Given the description of an element on the screen output the (x, y) to click on. 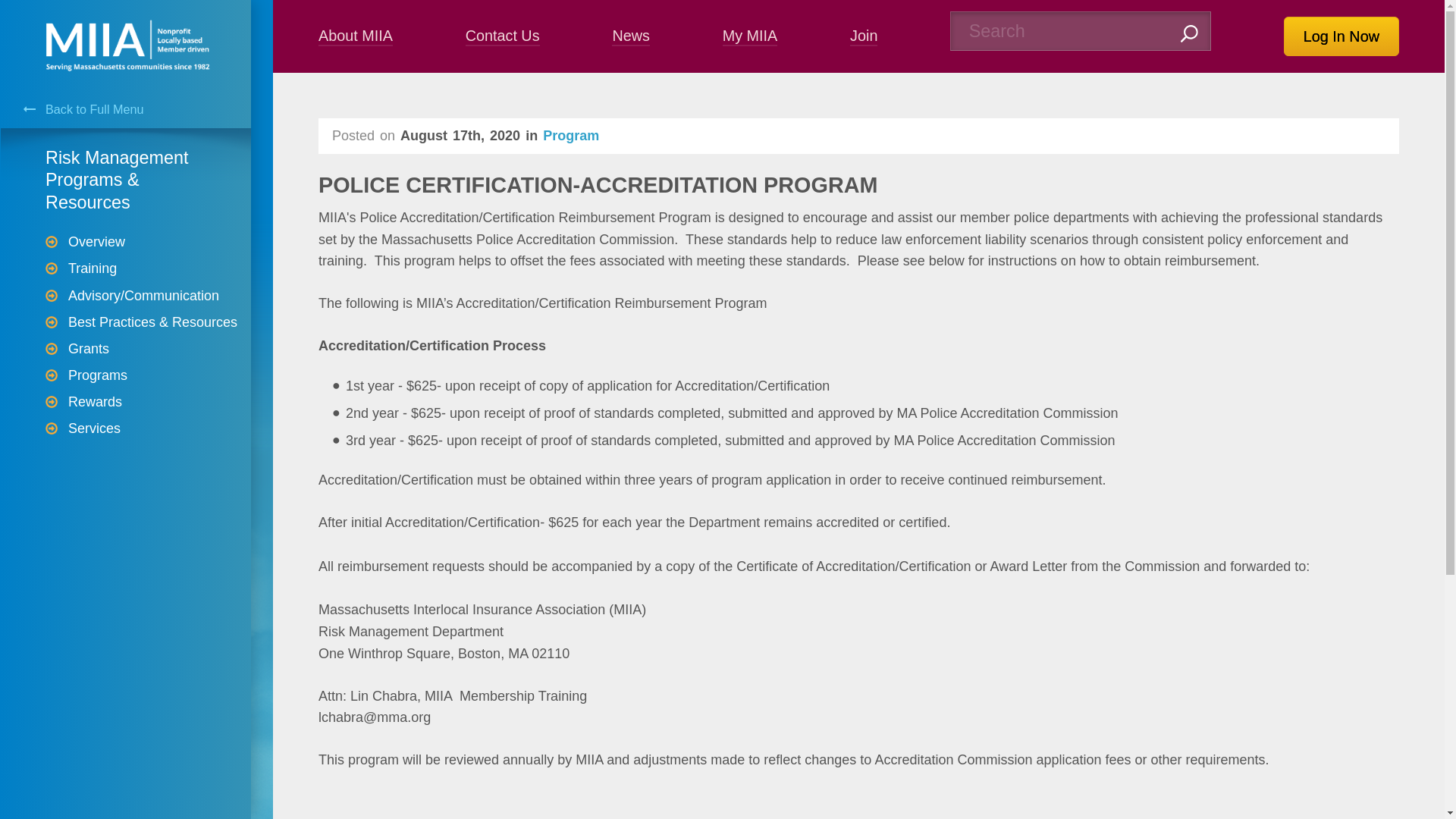
Cyber Liability Protection (147, 200)
My MIIA (147, 488)
MIIA is a Membership Service of the (132, 141)
Back to Full Menu (147, 109)
Overview (159, 241)
